Given the description of an element on the screen output the (x, y) to click on. 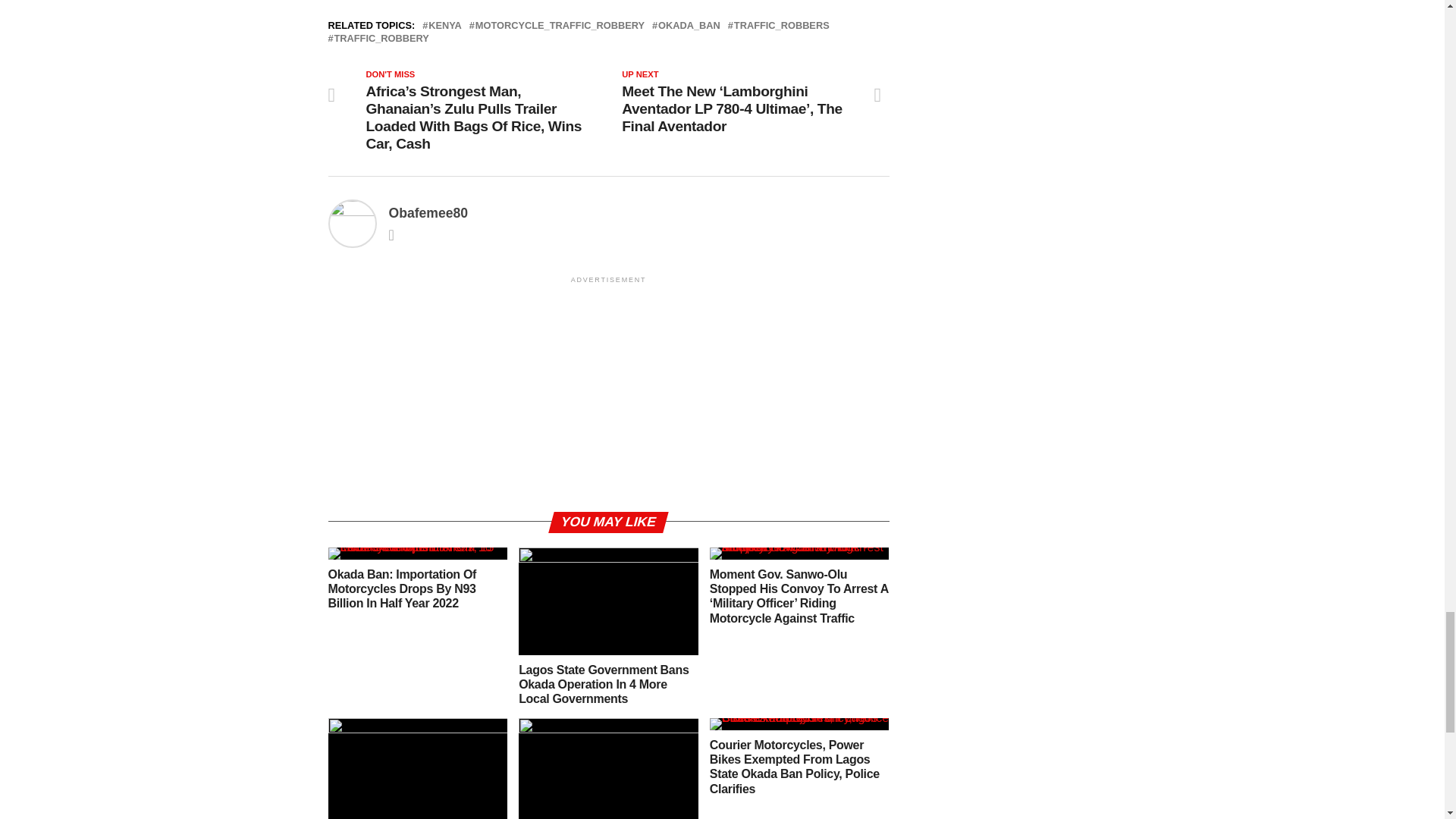
Posts by Obafemee80 (427, 212)
